Given the description of an element on the screen output the (x, y) to click on. 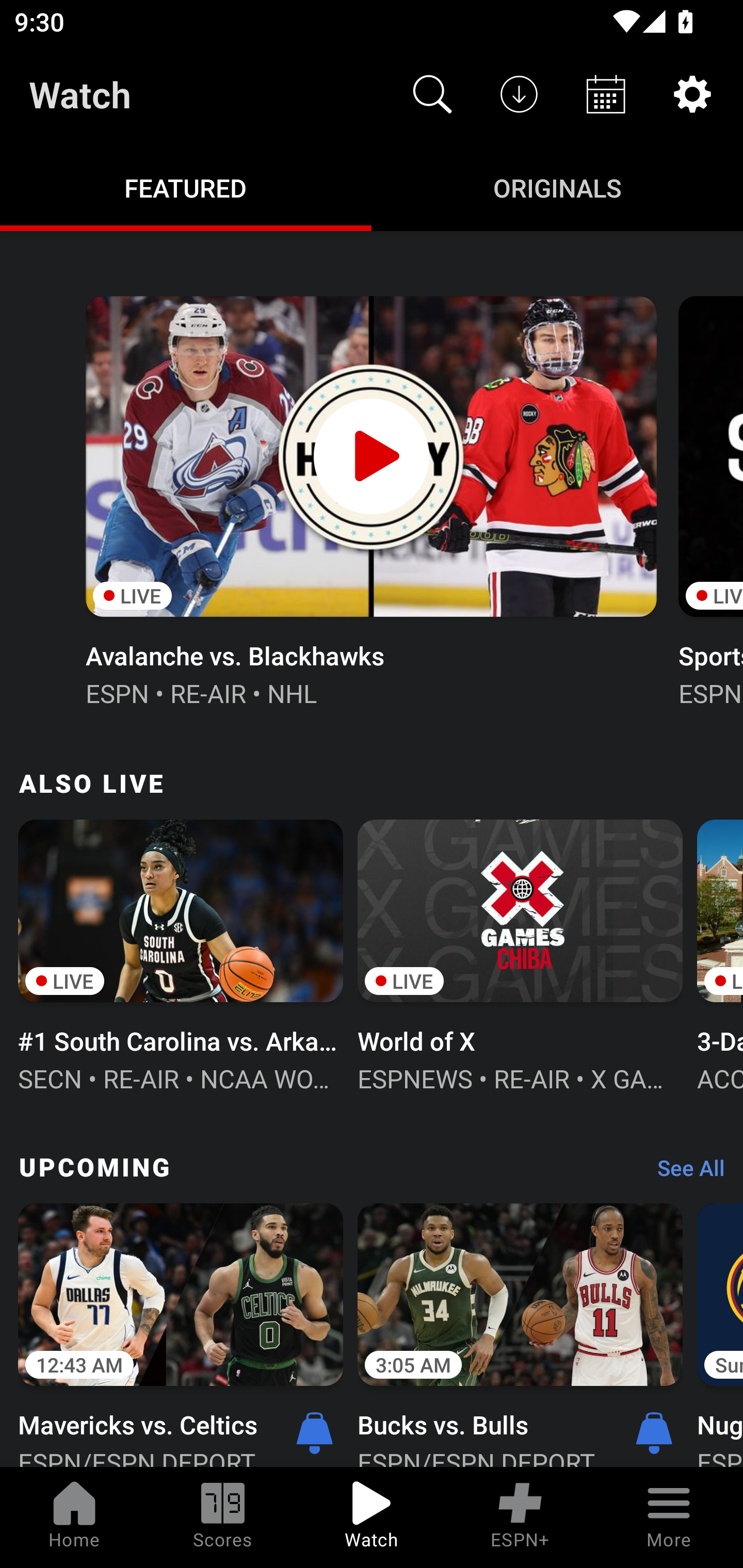
Search (432, 93)
Downloads (518, 93)
Schedule (605, 93)
Settings (692, 93)
Originals ORIGINALS (557, 187)
LIVE World of X ESPNEWS • RE-AIR • X GAMES (519, 954)
See All (683, 1172)
Home (74, 1517)
Scores (222, 1517)
ESPN+ (519, 1517)
More (668, 1517)
